Given the description of an element on the screen output the (x, y) to click on. 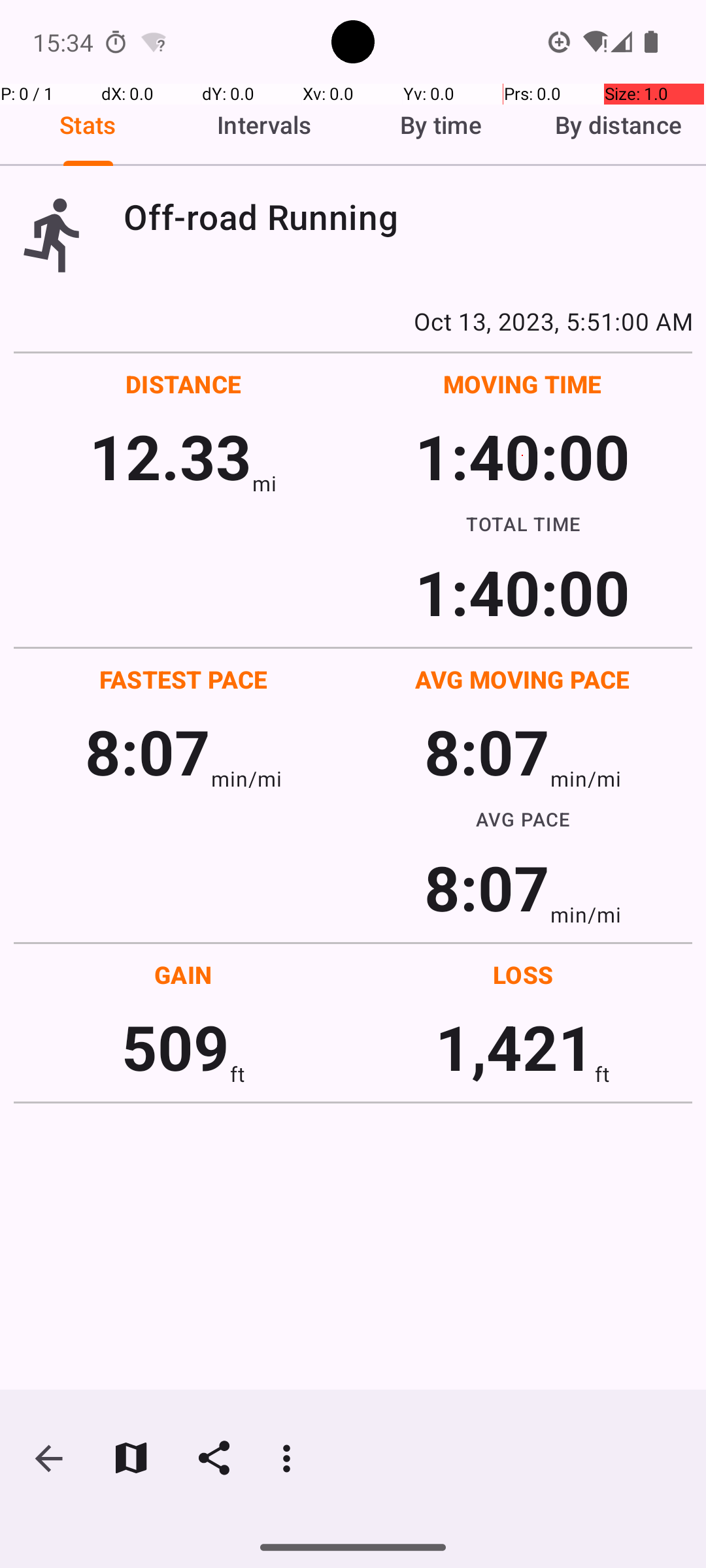
Off-road Running Element type: android.widget.TextView (407, 216)
Oct 13, 2023, 5:51:00 AM Element type: android.widget.TextView (352, 320)
12.33 Element type: android.widget.TextView (170, 455)
1:40:00 Element type: android.widget.TextView (522, 455)
8:07 Element type: android.widget.TextView (147, 750)
509 Element type: android.widget.TextView (175, 1045)
1,421 Element type: android.widget.TextView (514, 1045)
